Given the description of an element on the screen output the (x, y) to click on. 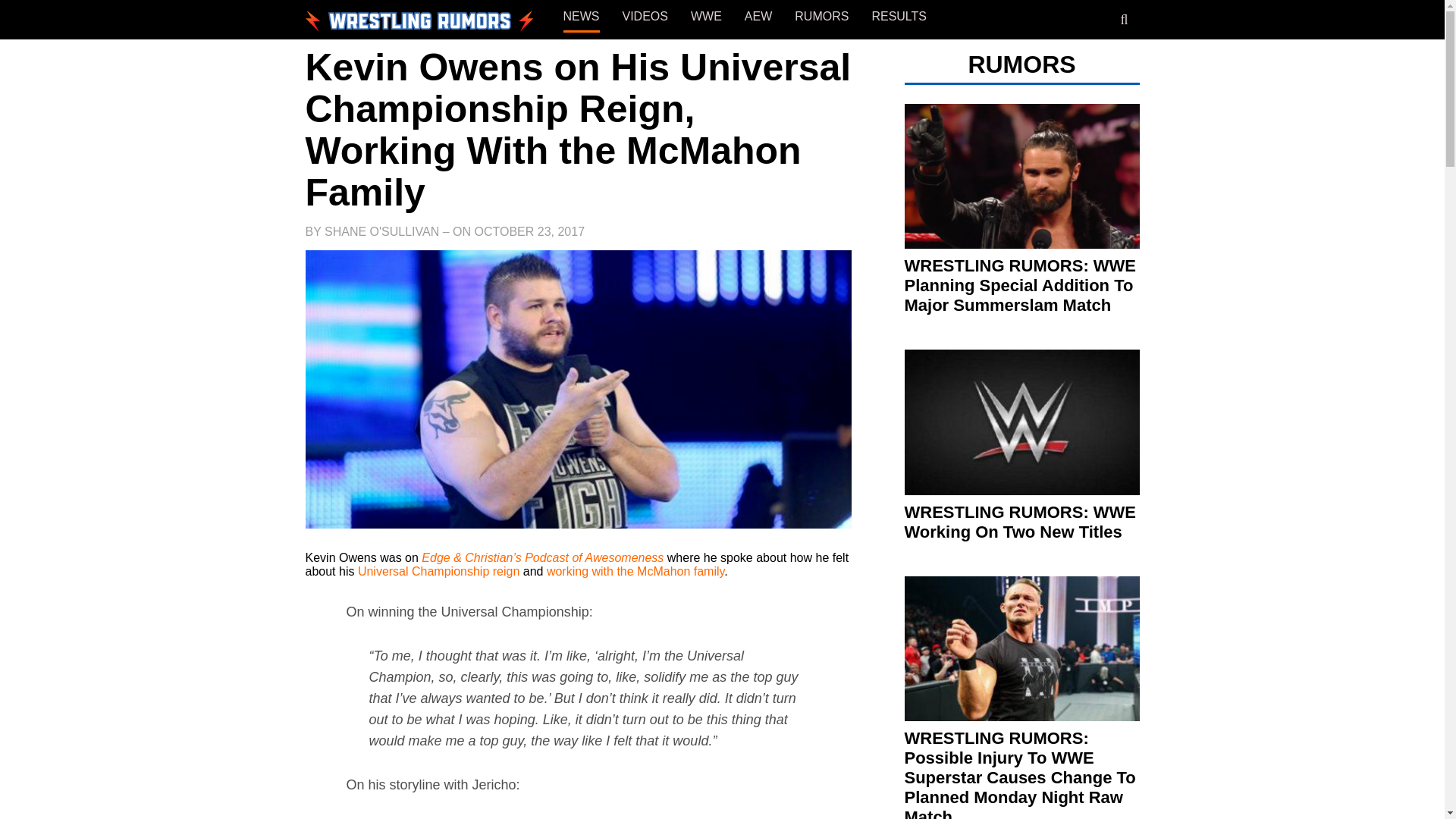
VIDEOS (643, 16)
RESULTS (898, 16)
working with the McMahon family (635, 571)
RUMORS (821, 16)
NEWS (580, 16)
Universal Championship reign (437, 571)
WWE (706, 16)
